Given the description of an element on the screen output the (x, y) to click on. 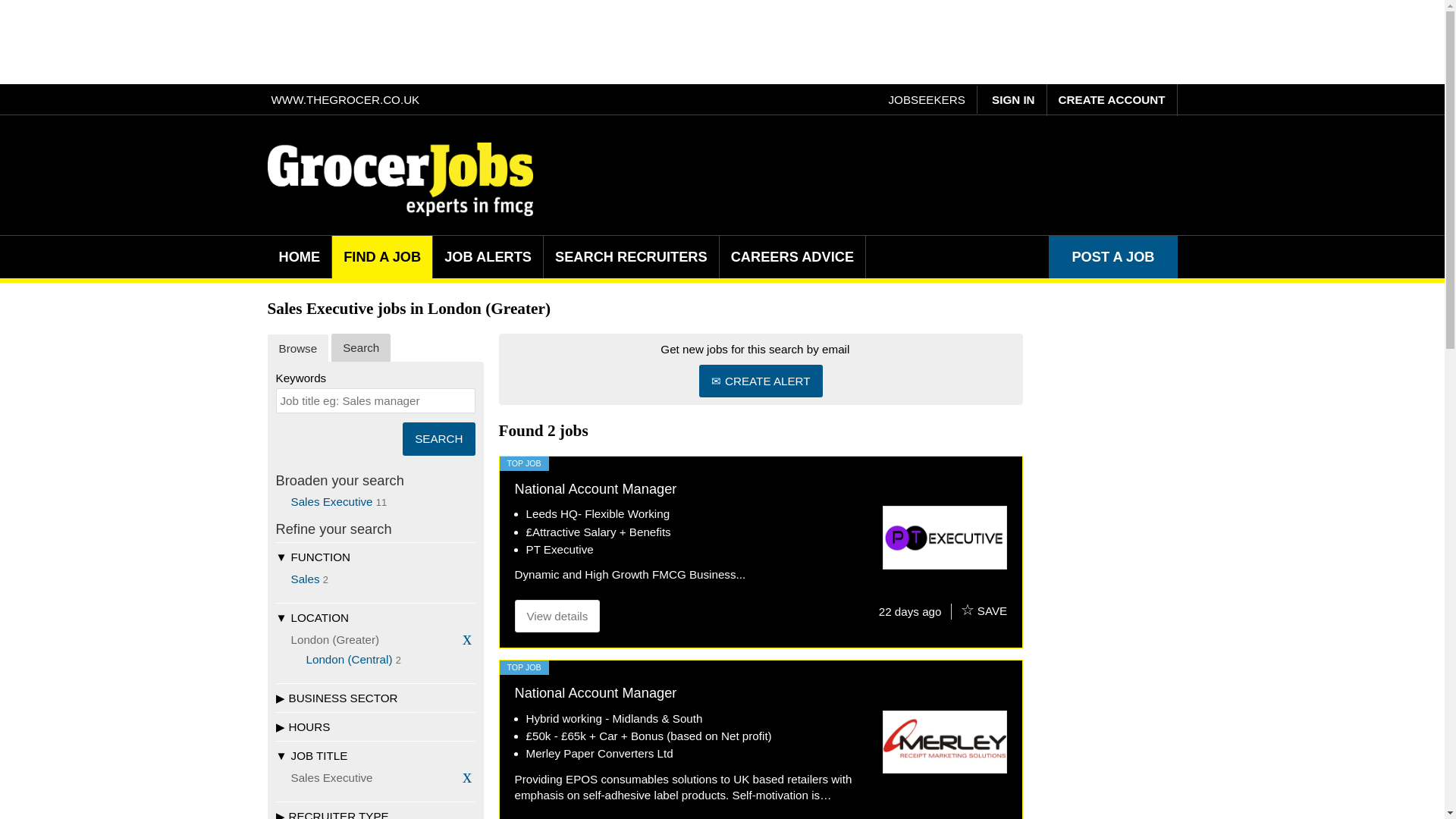
Search (438, 438)
JOB ALERTS (487, 256)
CAREERS ADVICE (791, 256)
HOME (298, 256)
Search (438, 438)
GrocerJobs (399, 179)
FIND A JOB (381, 256)
LOCATION (376, 616)
Sales Executive (331, 501)
SEARCH RECRUITERS (631, 256)
BUSINESS SECTOR (376, 697)
Sales (305, 578)
RECRUITER TYPE (376, 810)
3rd party ad content (722, 41)
SIGN IN (1012, 99)
